Given the description of an element on the screen output the (x, y) to click on. 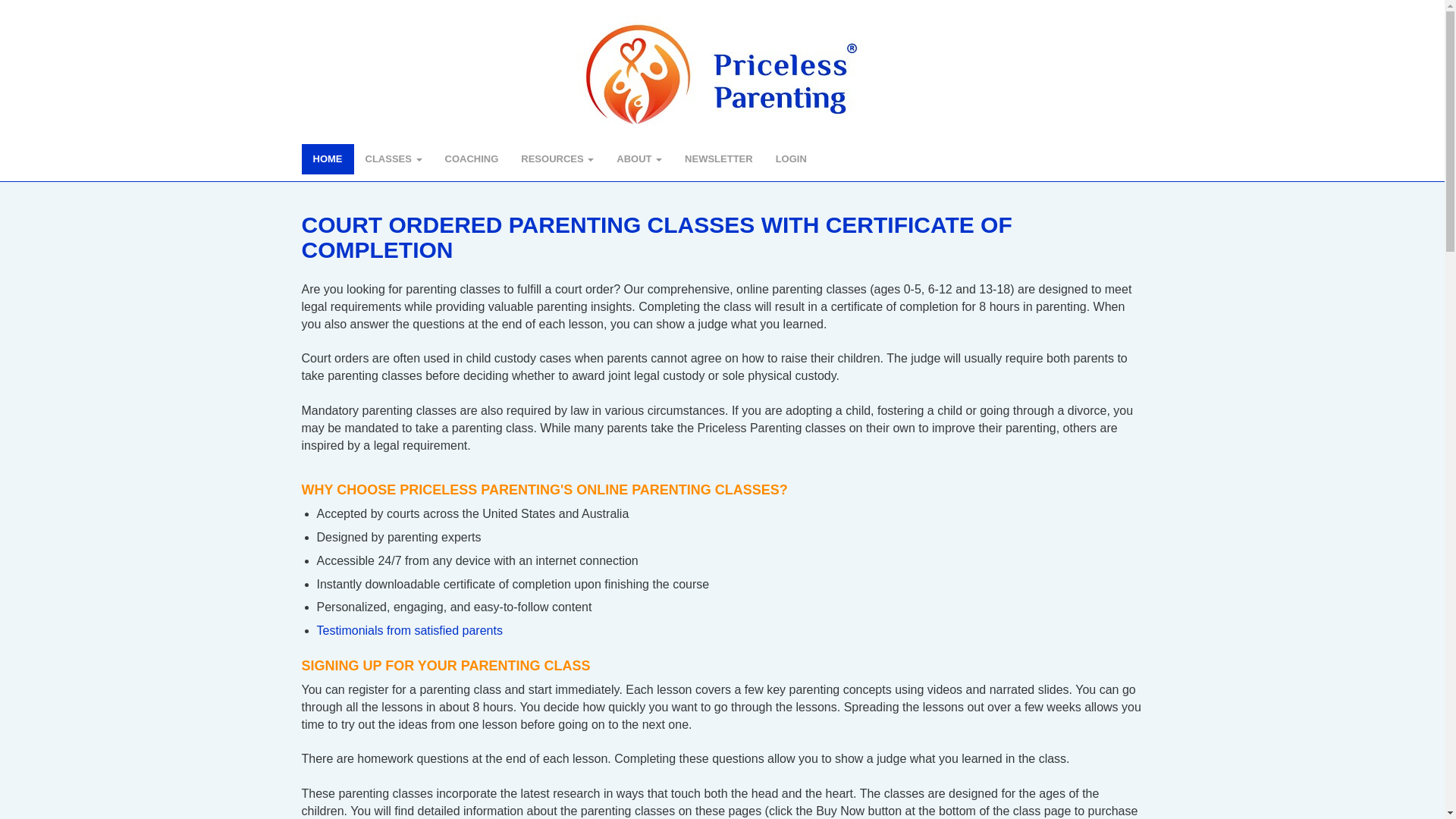
NEWSLETTER (718, 159)
CLASSES (392, 159)
HOME (327, 159)
RESOURCES (557, 159)
Testimonials from satisfied parents (409, 630)
LOGIN      (797, 159)
COACHING (472, 159)
ABOUT (638, 159)
